Given the description of an element on the screen output the (x, y) to click on. 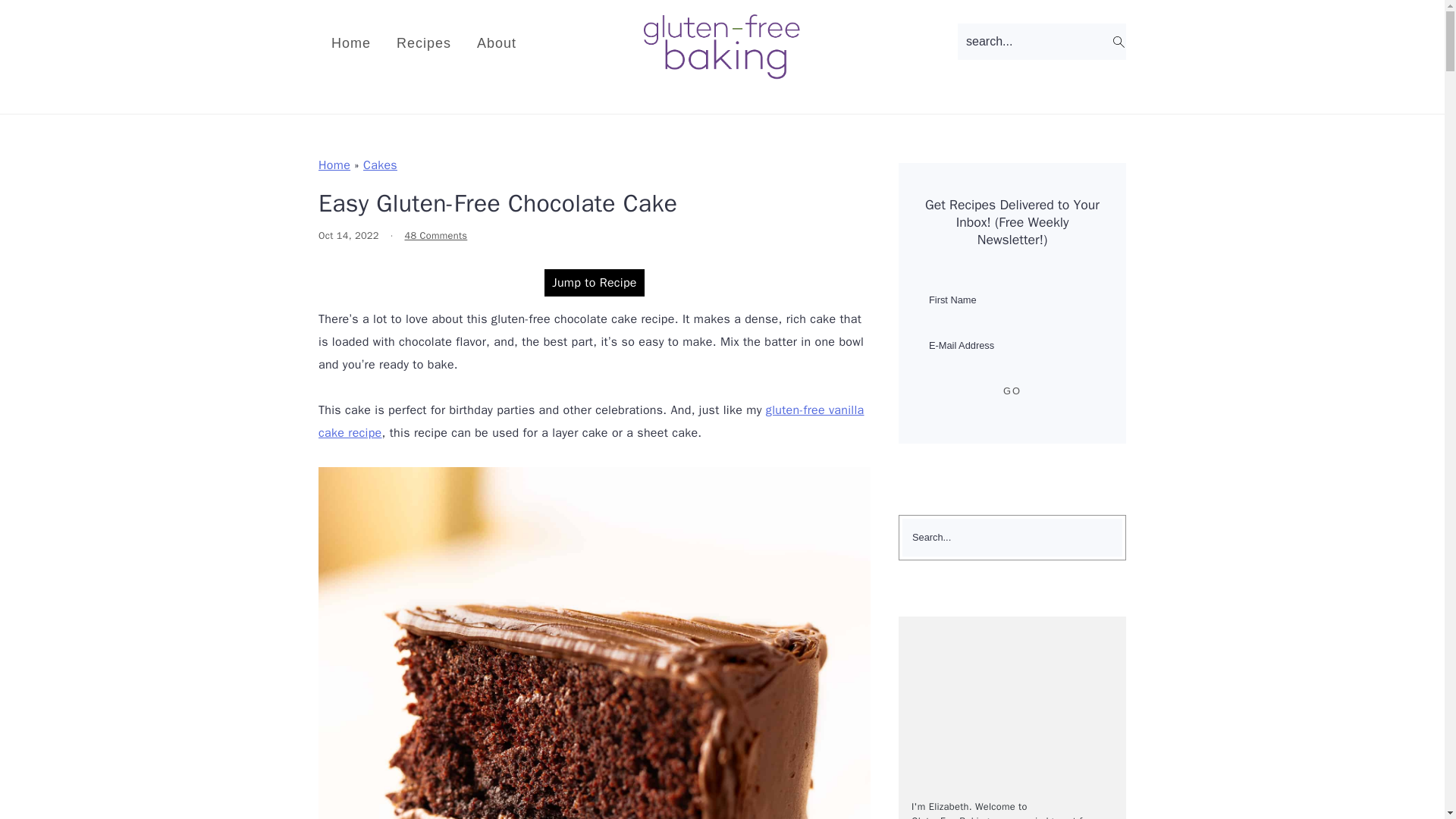
Gluten-Free Baking (721, 45)
Recipes (424, 43)
Home (351, 43)
Cakes (379, 165)
About (496, 43)
Jump to Recipe (594, 282)
48 Comments (435, 235)
Gluten-Free Baking (721, 71)
gluten-free vanilla cake recipe (590, 421)
Home (334, 165)
Go (1011, 391)
